Given the description of an element on the screen output the (x, y) to click on. 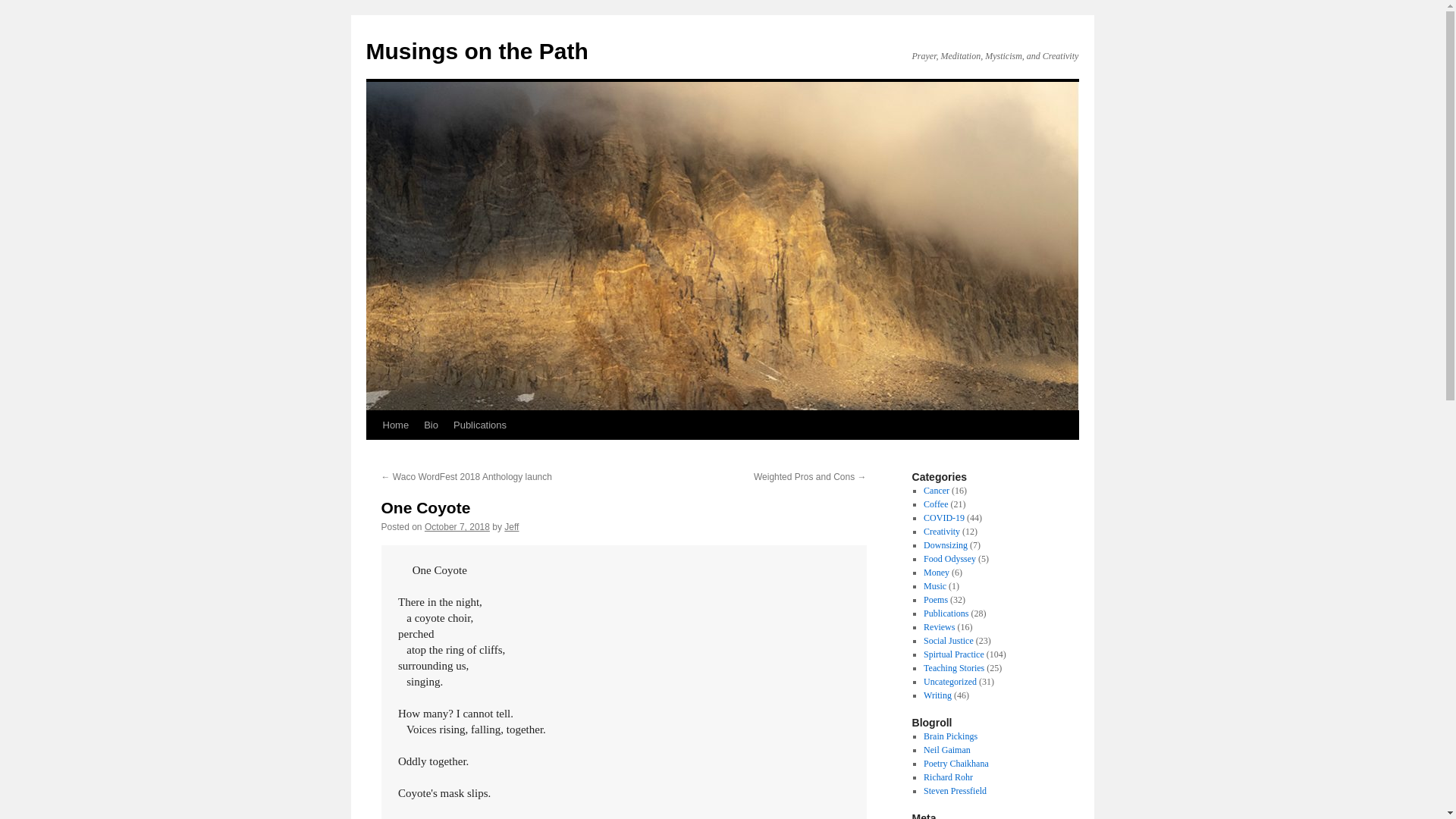
7:09 pm (457, 526)
Creativity (941, 531)
Coffee (935, 503)
Maria Popova (949, 736)
Social Justice (948, 640)
Publications (945, 613)
View all posts by Jeff (510, 526)
Teaching Stories (953, 667)
Home (395, 425)
Food Odyssey (949, 558)
Poems (935, 599)
October 7, 2018 (457, 526)
Jeff (510, 526)
COVID-19 (943, 517)
Musings on the Path (476, 50)
